Given the description of an element on the screen output the (x, y) to click on. 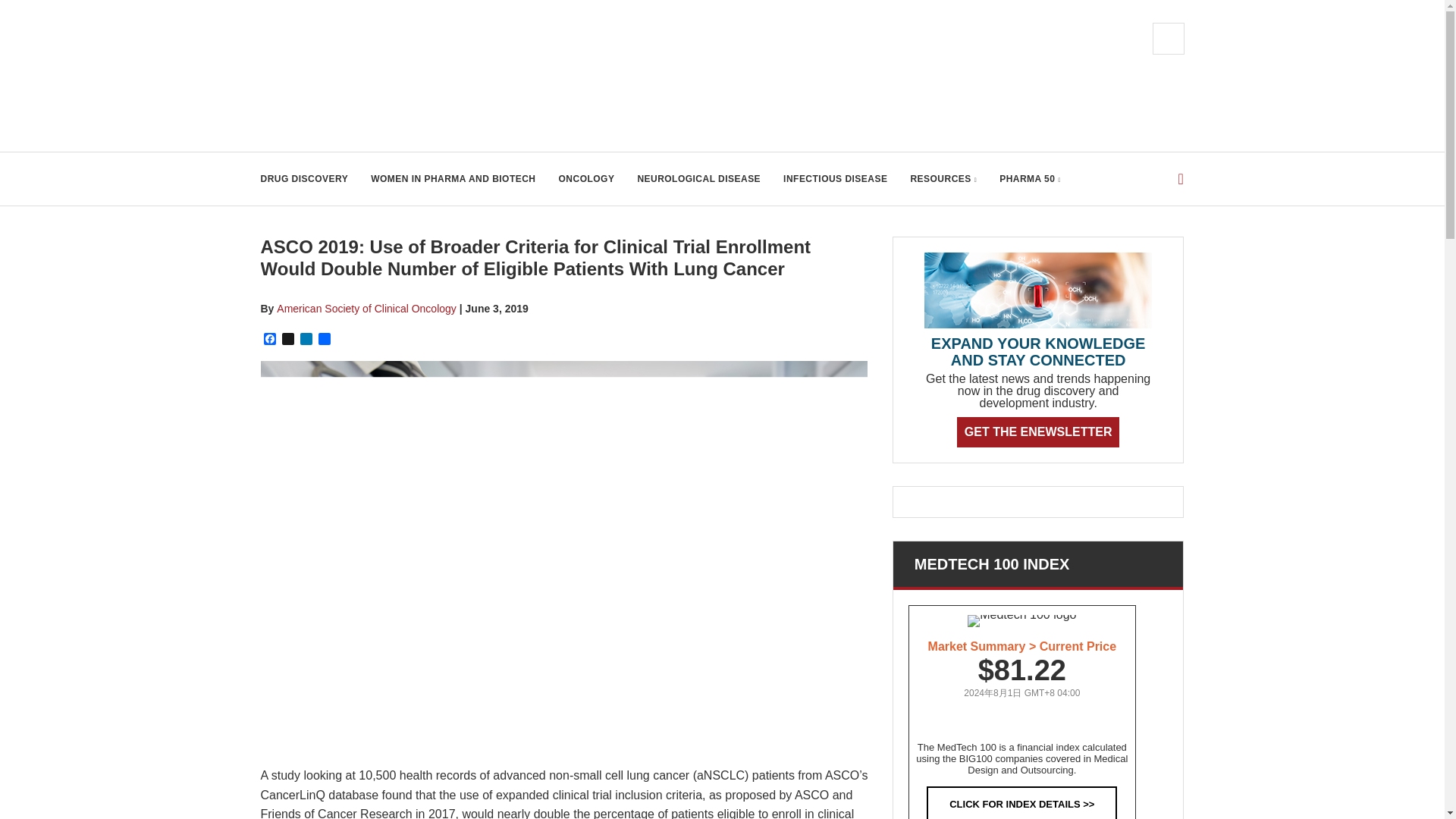
Drug Discovery and Development (412, 75)
Facebook (269, 339)
GET THE ENEWSLETTER (1037, 431)
DRUG DISCOVERY (304, 178)
NEUROLOGICAL DISEASE (698, 178)
GET THE ENEWSLETTER (1037, 431)
LinkedIn (306, 339)
RESOURCES (943, 178)
INFECTIOUS DISEASE (834, 178)
Facebook (269, 339)
